Given the description of an element on the screen output the (x, y) to click on. 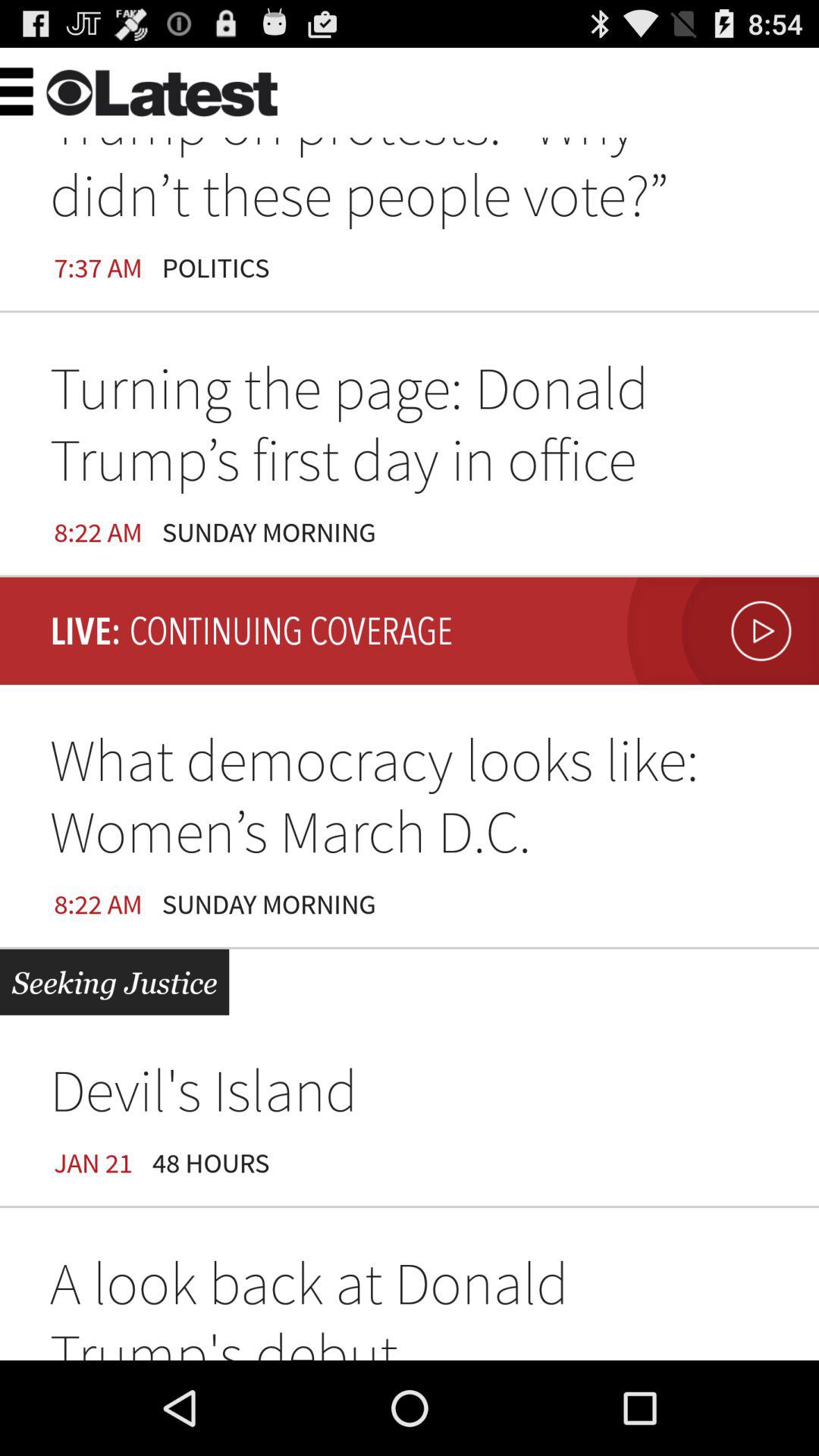
click the icon to the right of sunday morning icon (719, 630)
